Given the description of an element on the screen output the (x, y) to click on. 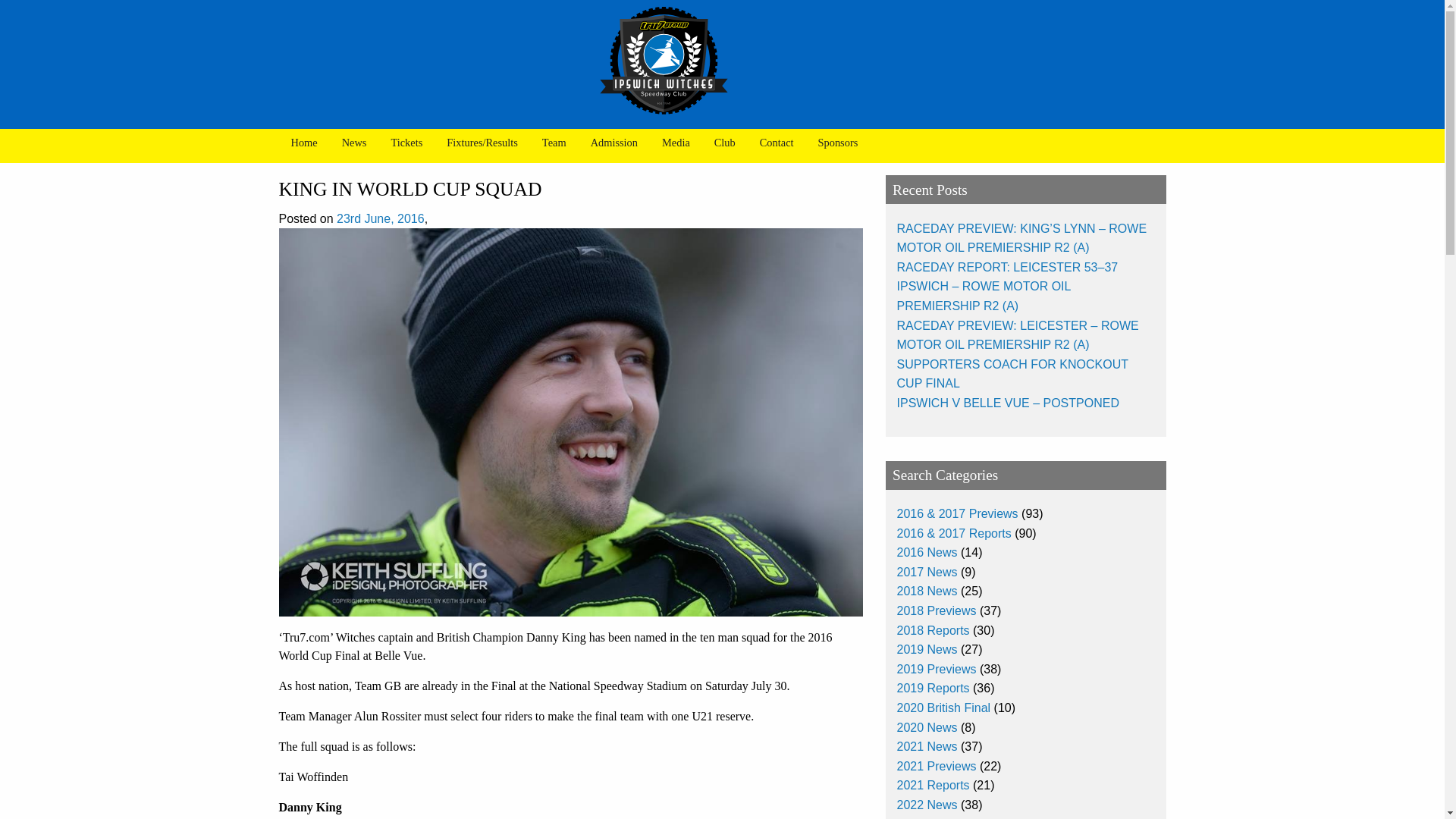
Admission (613, 142)
Team (553, 142)
News (354, 142)
Contact (777, 142)
Media (675, 142)
Sponsors (838, 142)
Tickets (405, 142)
Club (724, 142)
Home (304, 142)
